Given the description of an element on the screen output the (x, y) to click on. 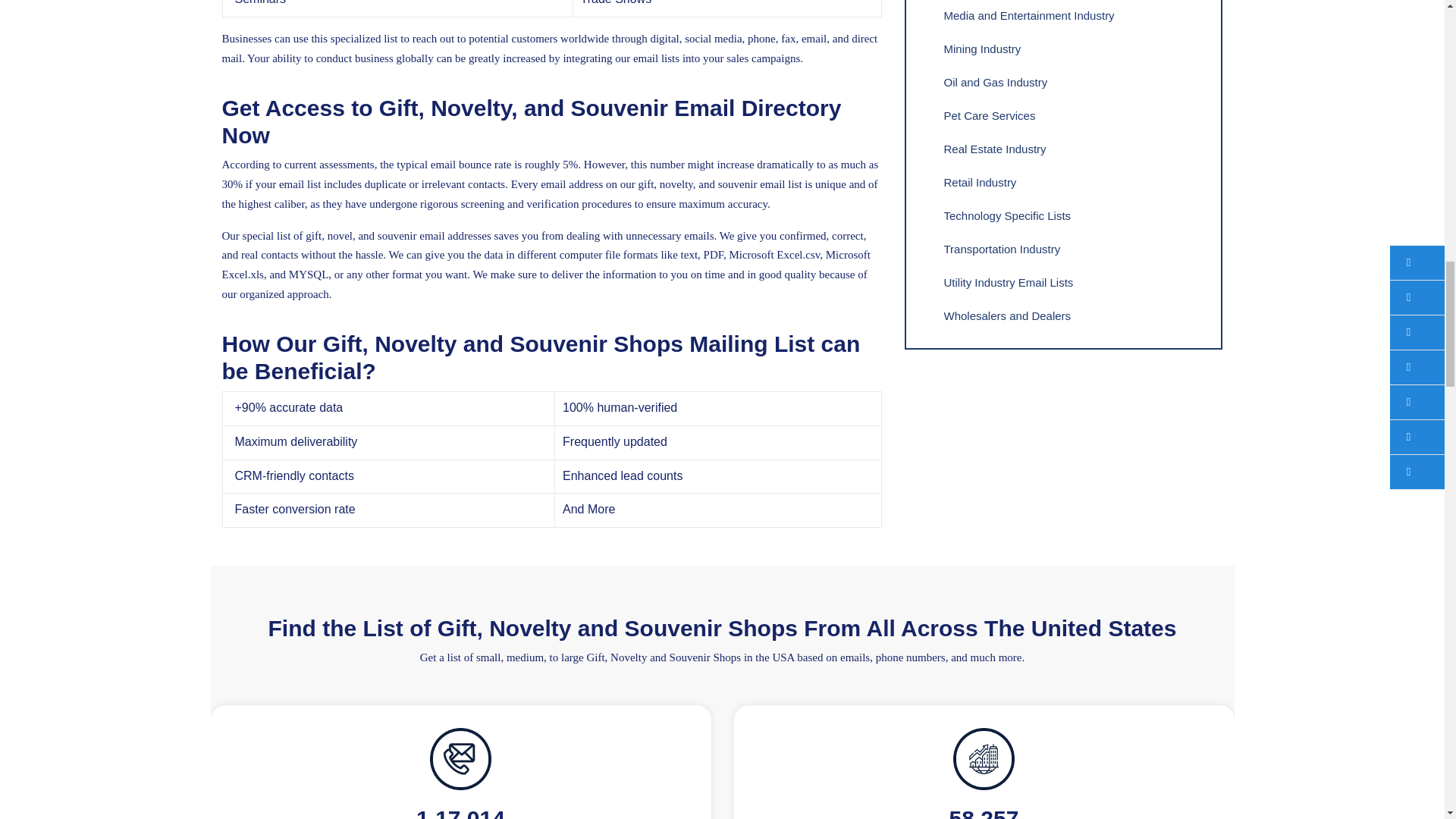
Companies (983, 759)
Tele and Email Marketing - OriginLists (460, 759)
